Given the description of an element on the screen output the (x, y) to click on. 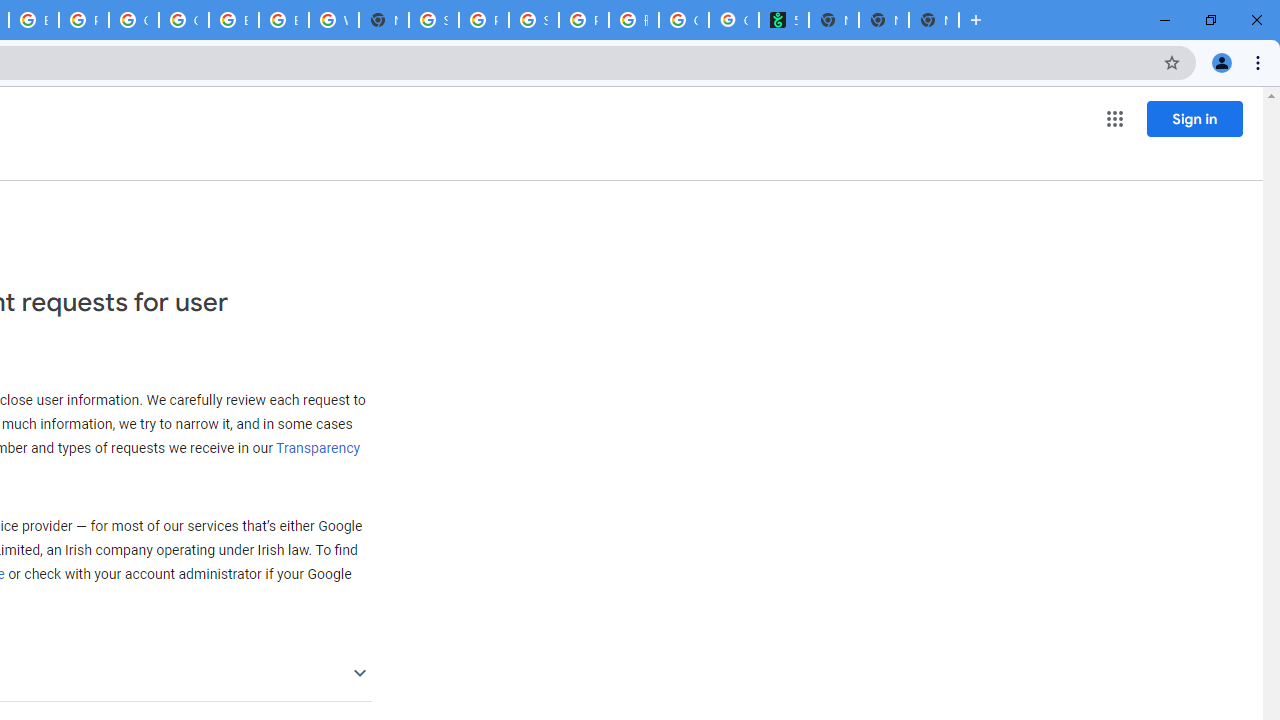
New Tab (383, 20)
Sign in - Google Accounts (433, 20)
New Tab (933, 20)
